Given the description of an element on the screen output the (x, y) to click on. 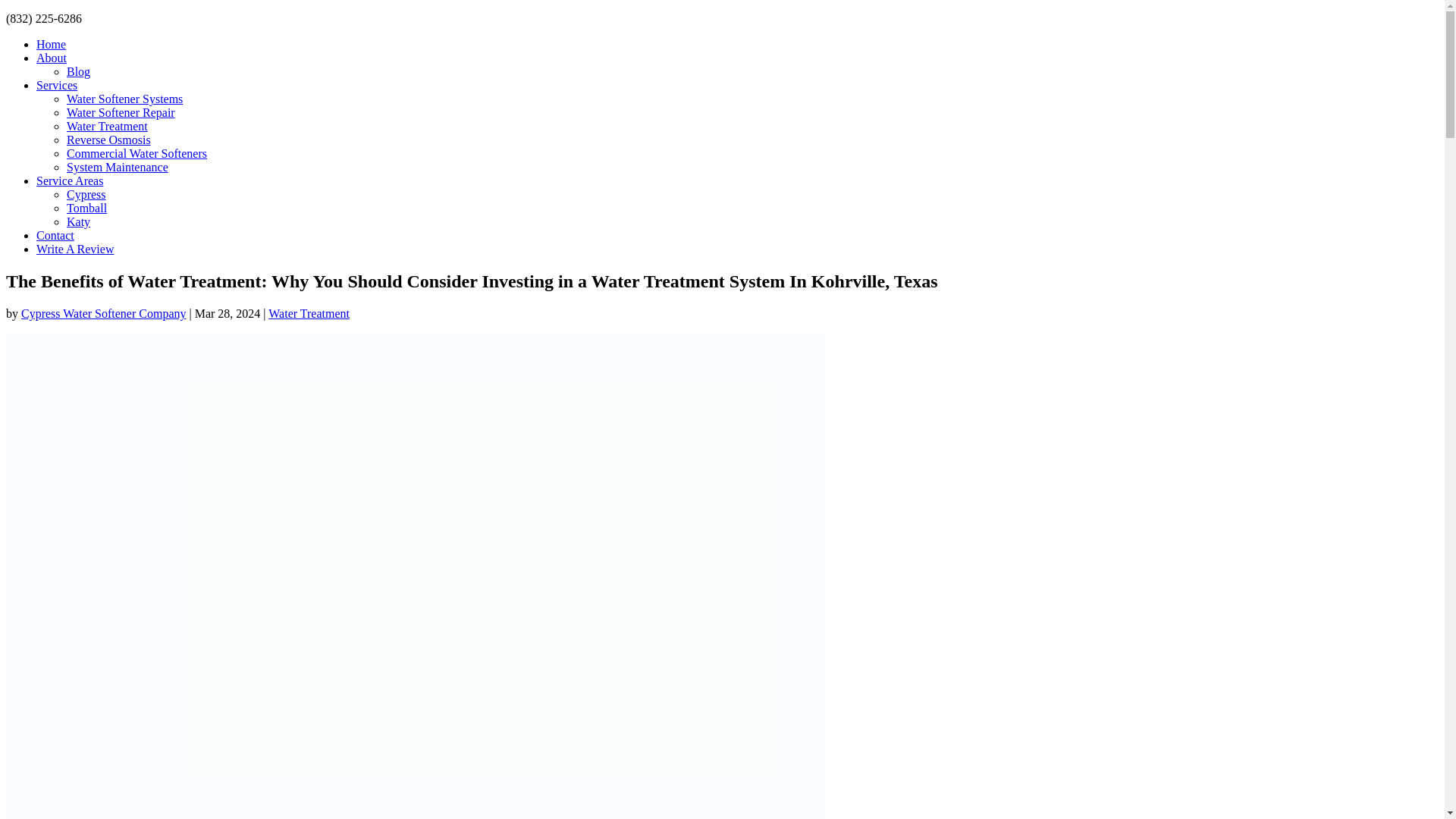
Posts by Cypress Water Softener Company (103, 313)
Cypress (86, 194)
Katy (78, 221)
Water Softener Repair (120, 112)
Reverse Osmosis (108, 139)
Contact (55, 235)
Water Treatment (308, 313)
Tomball (86, 207)
System Maintenance (117, 166)
Cypress Water Softener Company (103, 313)
Water Treatment (107, 125)
Blog (78, 71)
Services (56, 84)
Home (50, 43)
Service Areas (69, 180)
